Given the description of an element on the screen output the (x, y) to click on. 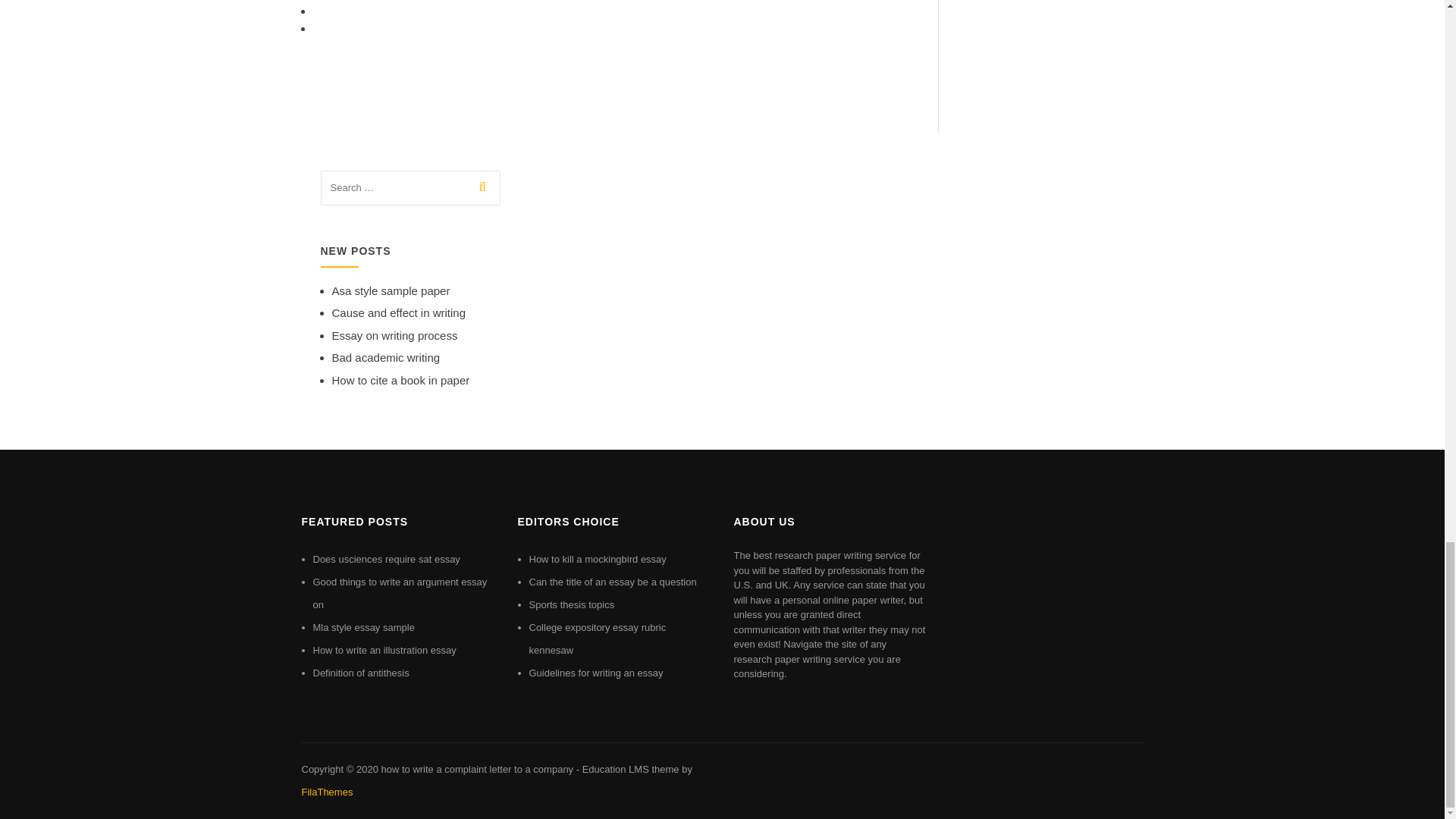
How to cite a book in paper (400, 379)
How to write an illustration essay (384, 650)
Asa style sample paper (390, 290)
Mla style essay sample (363, 627)
Can the title of an essay be a question (613, 582)
Does usciences require sat essay (386, 559)
Sports thesis topics (571, 604)
Cause and effect in writing (398, 312)
Good things to write an argument essay on (399, 593)
Essay on writing process (394, 335)
Bad academic writing (386, 357)
How to kill a mockingbird essay (597, 559)
how to write a complaint letter to a company (476, 768)
Guidelines for writing an essay (596, 672)
how to write a complaint letter to a company (476, 768)
